Given the description of an element on the screen output the (x, y) to click on. 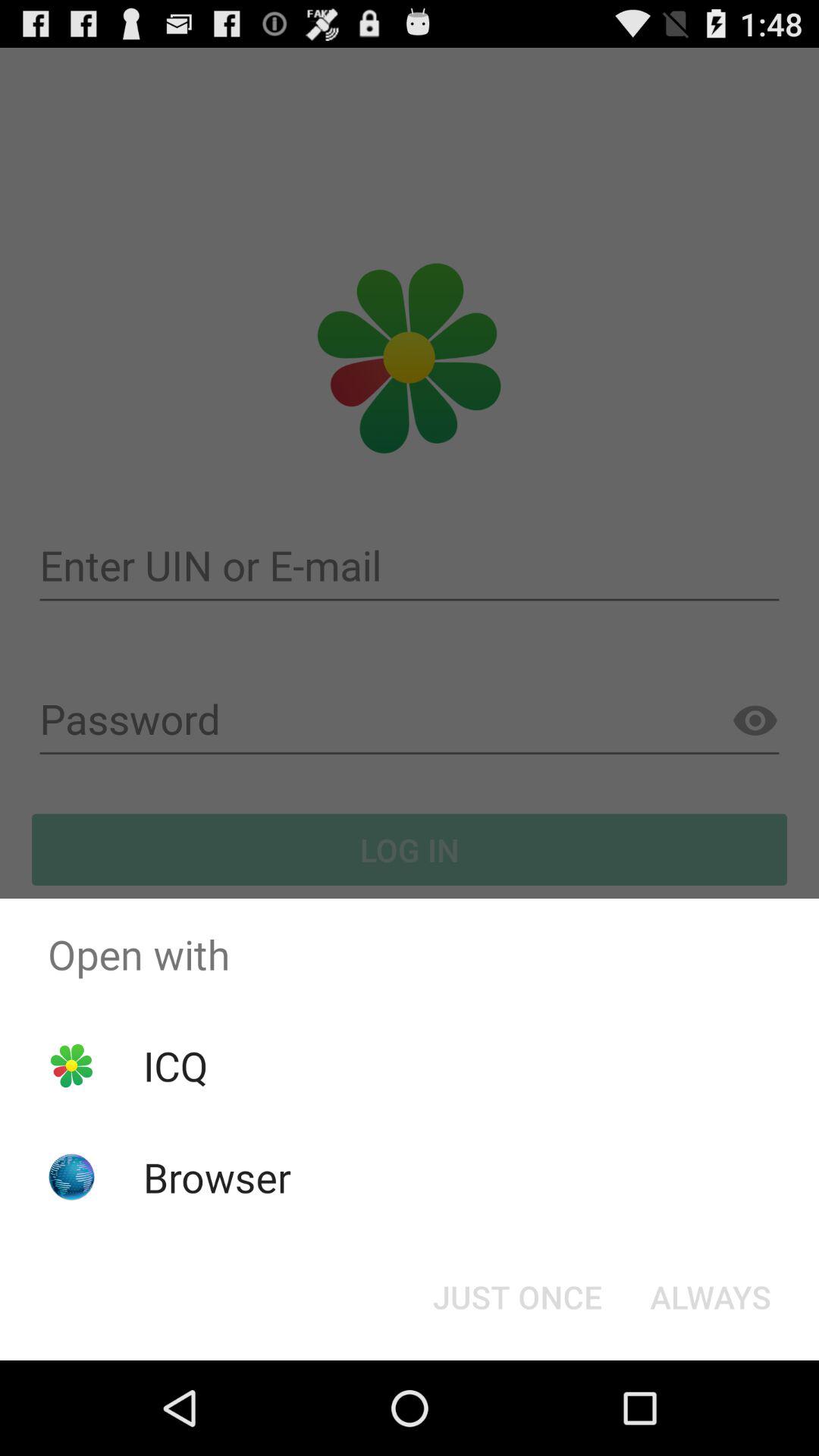
choose the app below the open with (710, 1296)
